Given the description of an element on the screen output the (x, y) to click on. 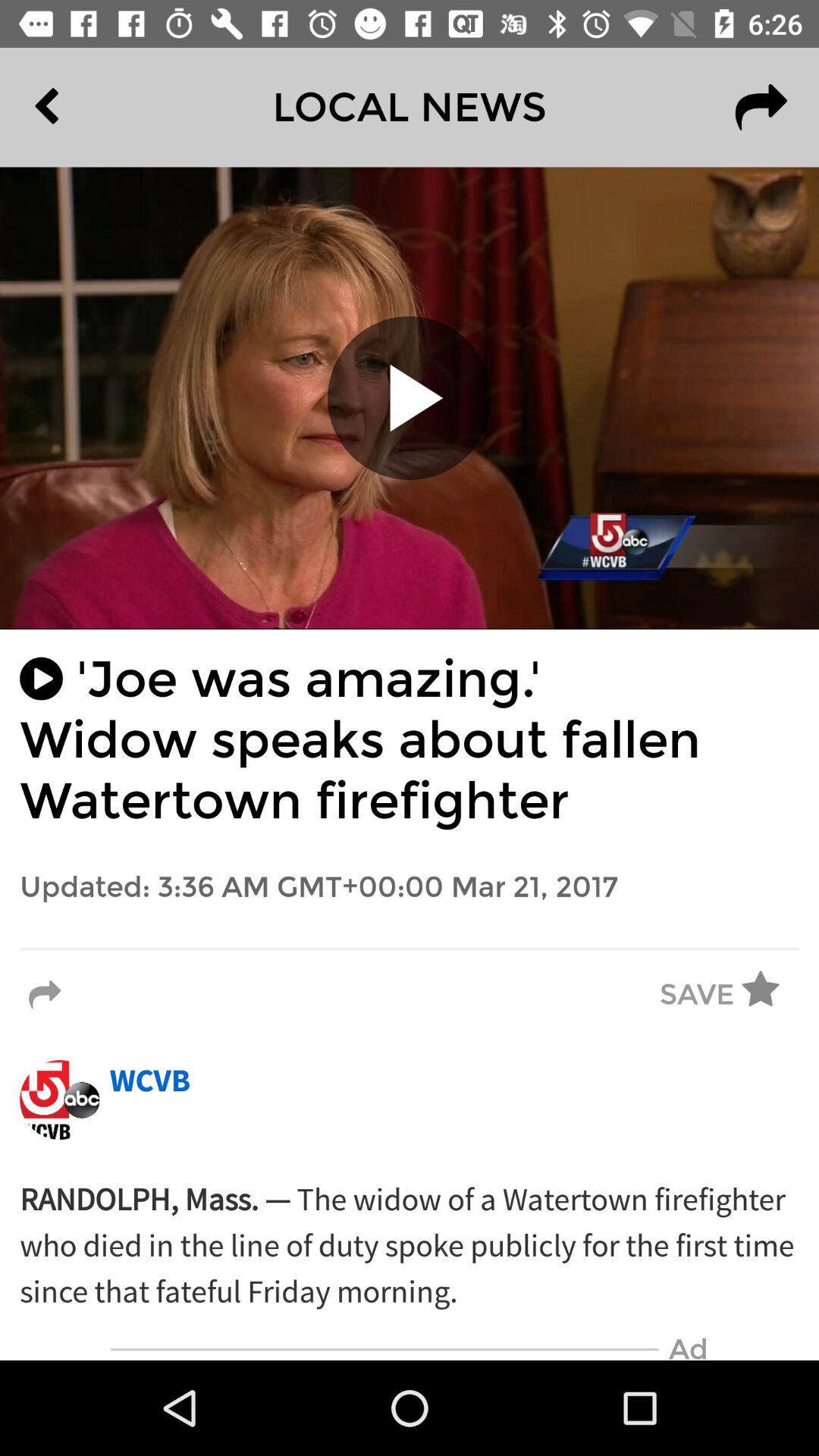
turn on item to the left of ad icon (384, 1349)
